Given the description of an element on the screen output the (x, y) to click on. 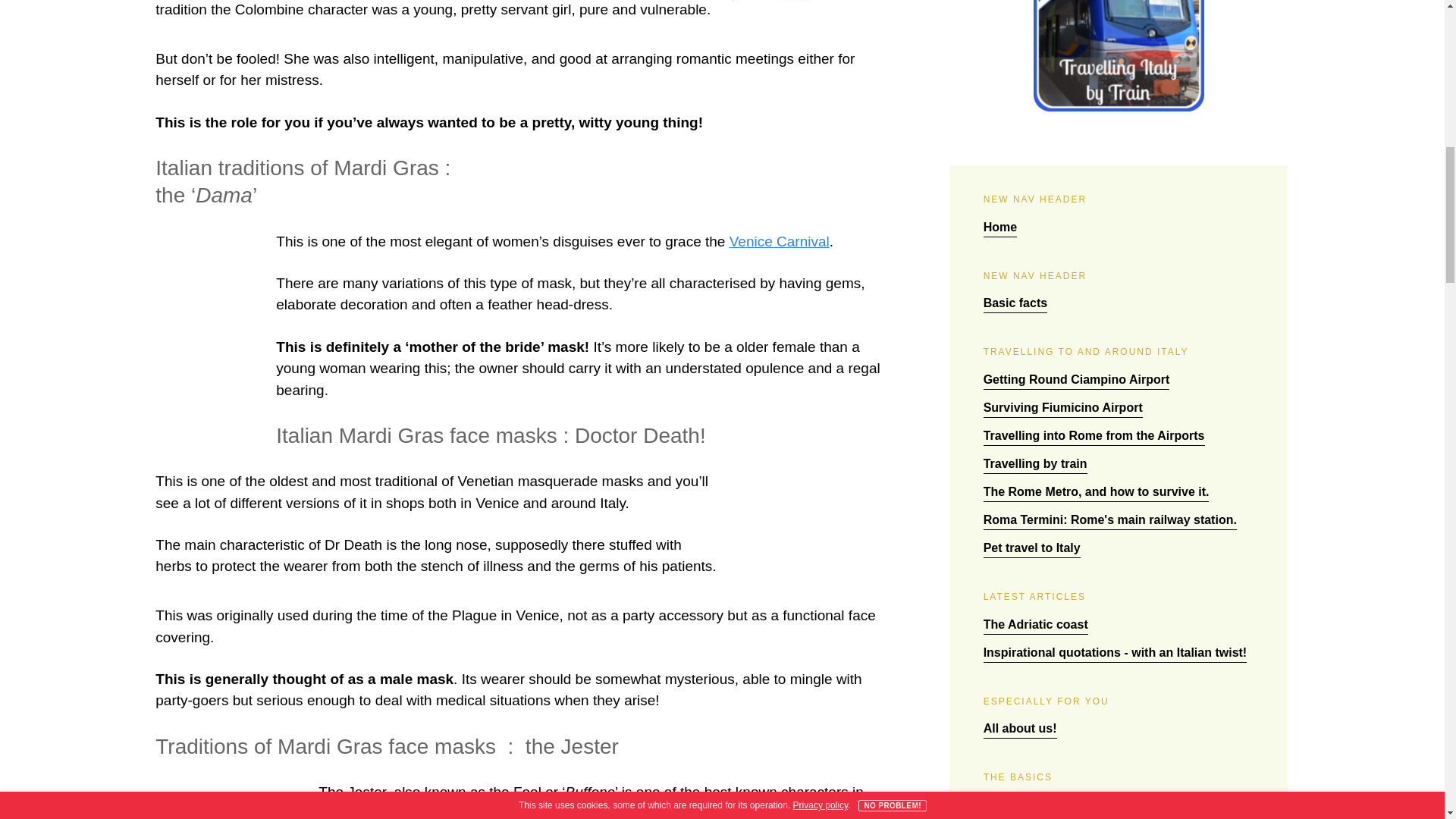
Venetian masquerade masks Dr Death (807, 522)
Mardi Gras face masks Colombine (807, 1)
Mardi Gras face mask The Jester (231, 800)
